Given the description of an element on the screen output the (x, y) to click on. 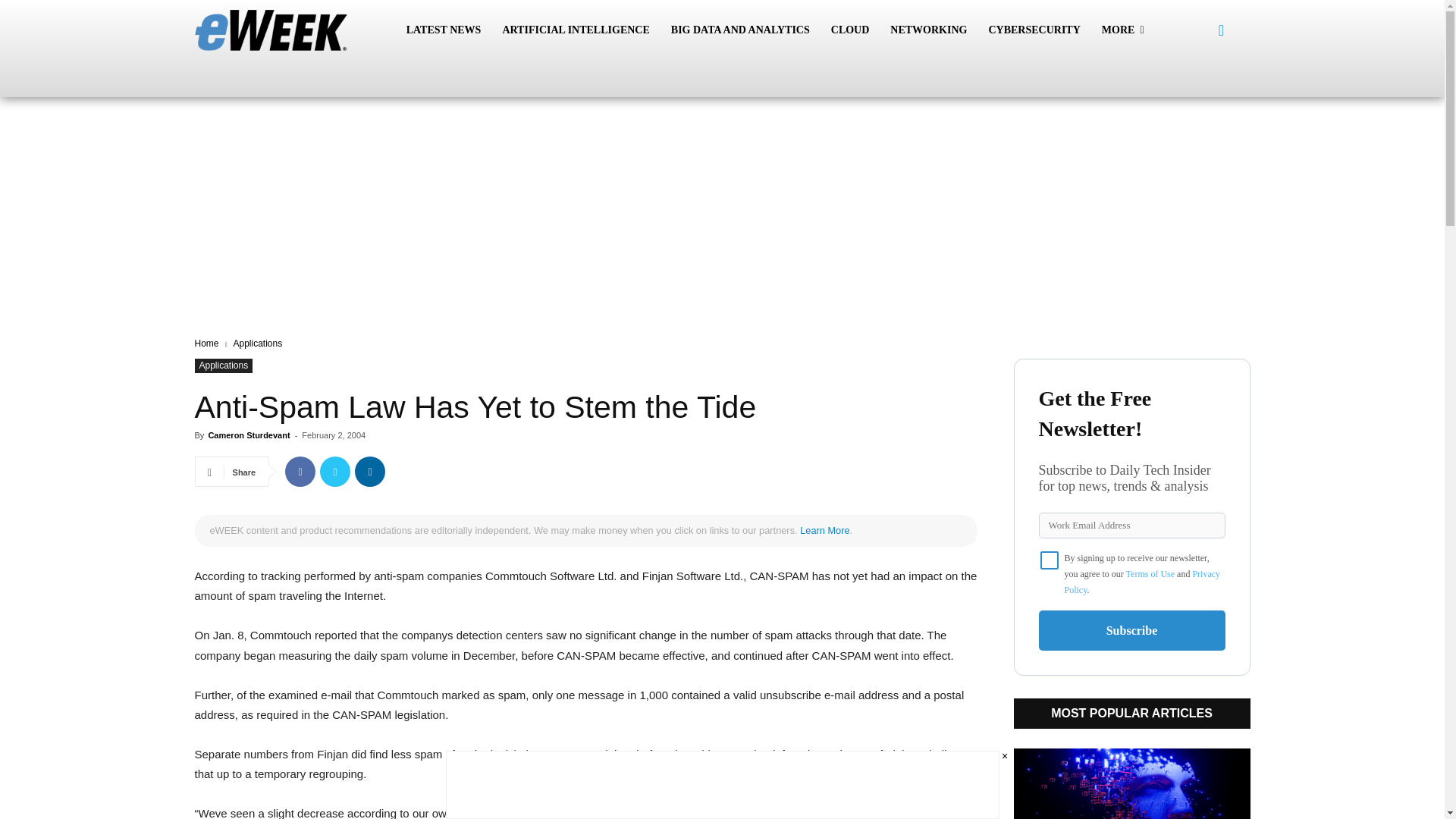
ARTIFICIAL INTELLIGENCE (575, 30)
LATEST NEWS (444, 30)
on (1049, 560)
3rd party ad content (721, 155)
CLOUD (850, 30)
Facebook (300, 471)
CYBERSECURITY (1033, 30)
NETWORKING (927, 30)
Linkedin (370, 471)
BIG DATA AND ANALYTICS (741, 30)
Twitter (335, 471)
